Given the description of an element on the screen output the (x, y) to click on. 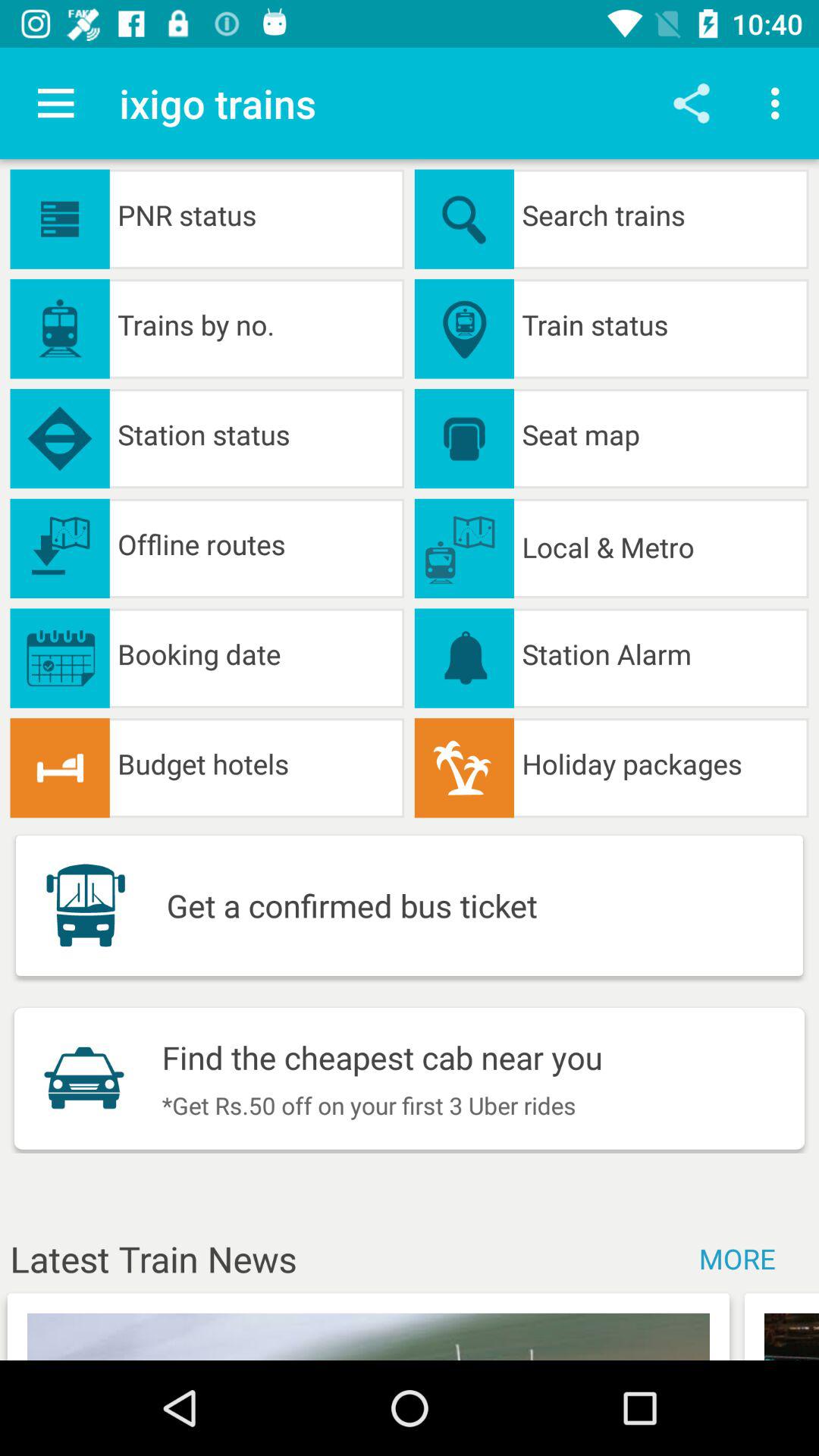
select icon above the search trains icon (691, 103)
